Given the description of an element on the screen output the (x, y) to click on. 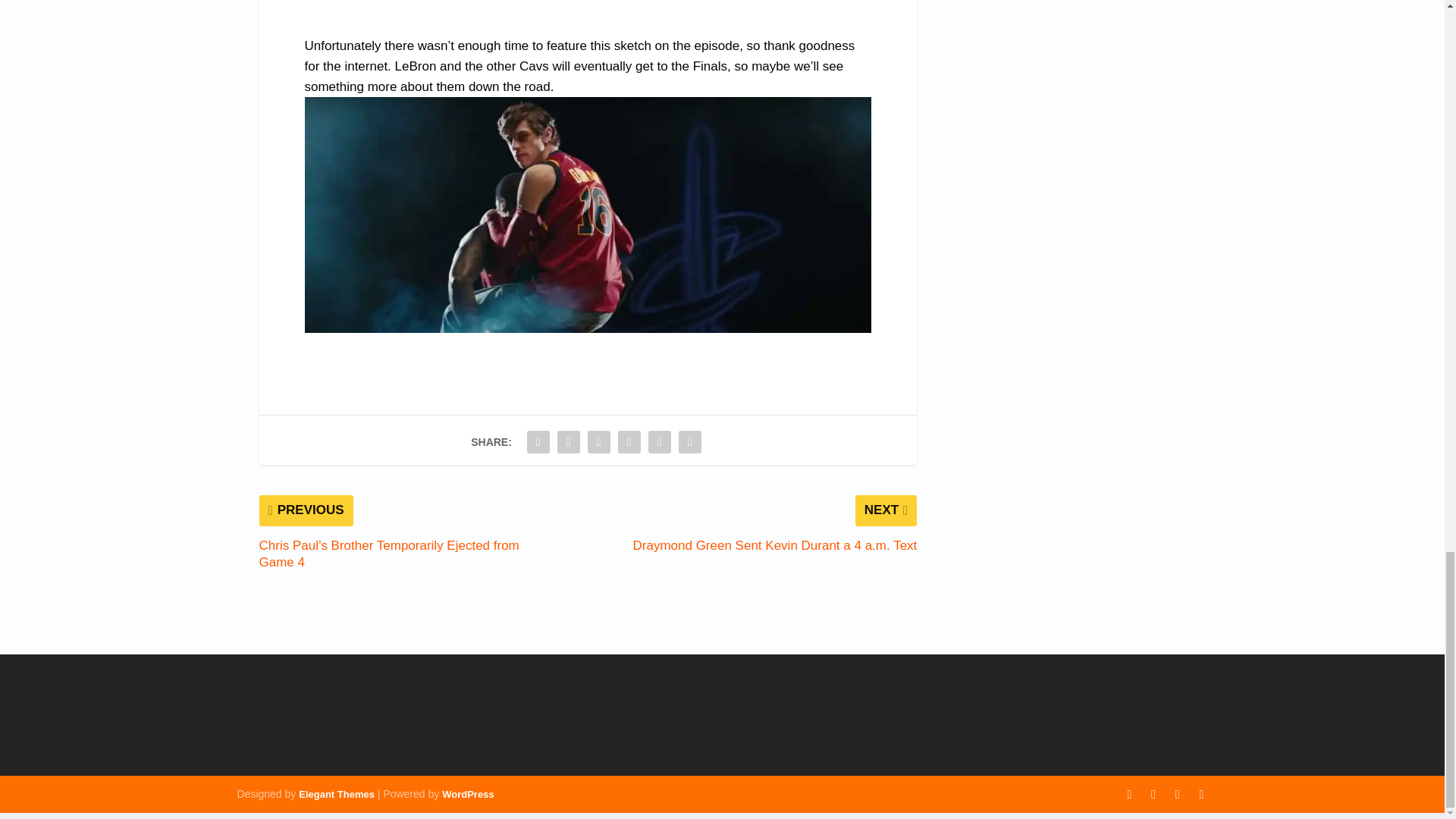
Elegant Themes (336, 794)
Premium WordPress Themes (336, 794)
WordPress (467, 794)
